Given the description of an element on the screen output the (x, y) to click on. 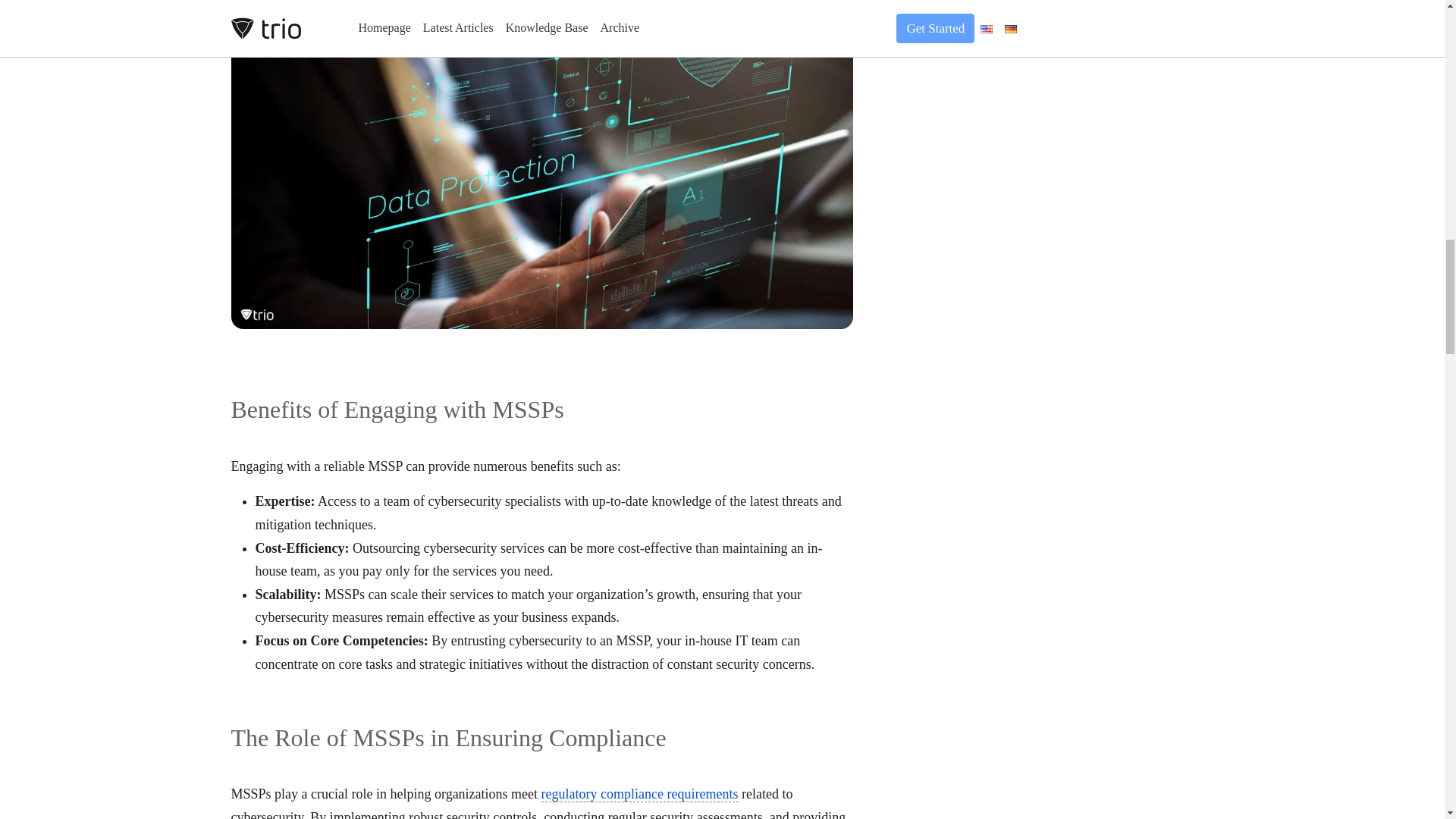
regulatory compliance requirements (639, 794)
